Given the description of an element on the screen output the (x, y) to click on. 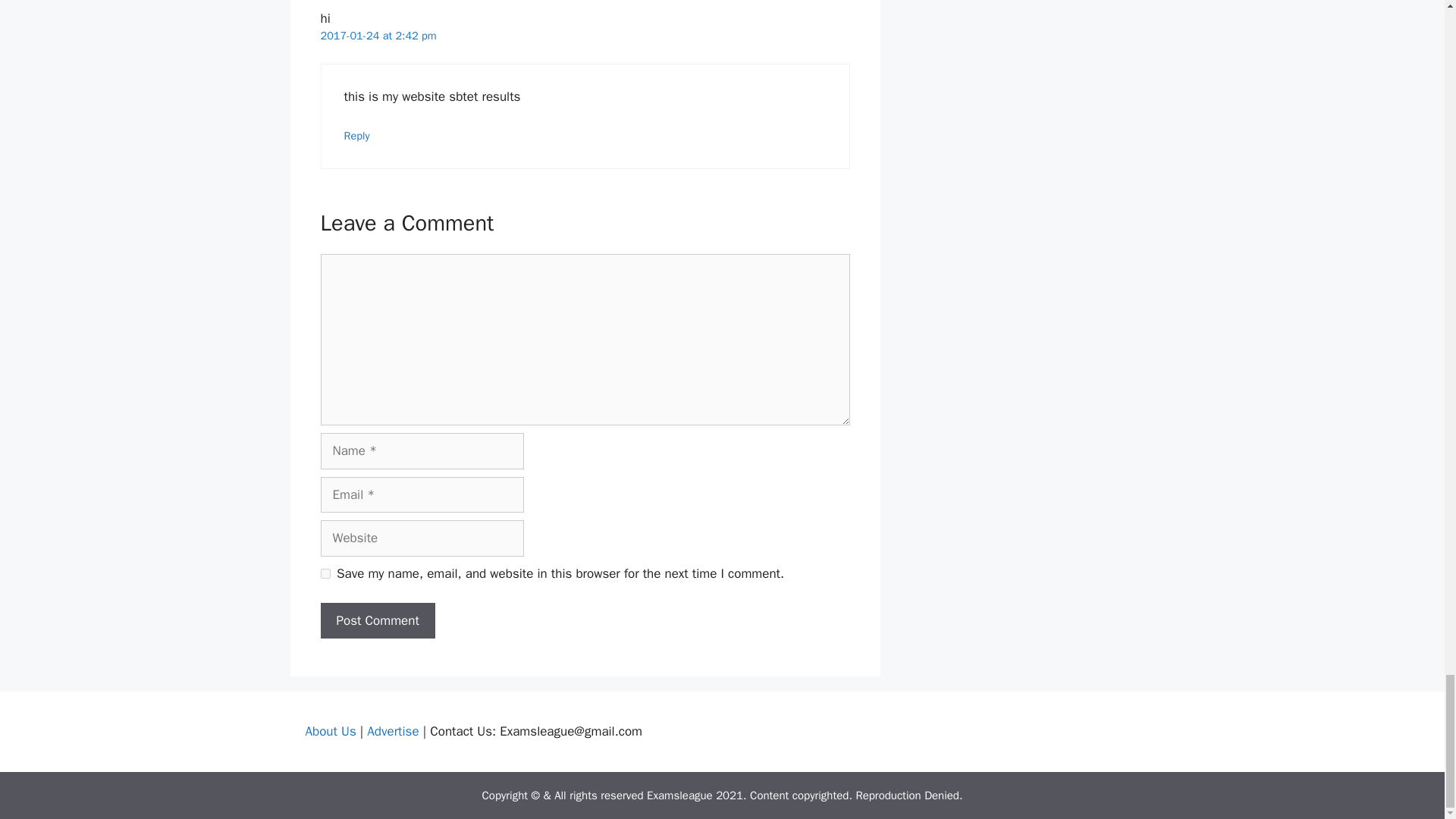
yes (325, 573)
Post Comment (376, 620)
